Given the description of an element on the screen output the (x, y) to click on. 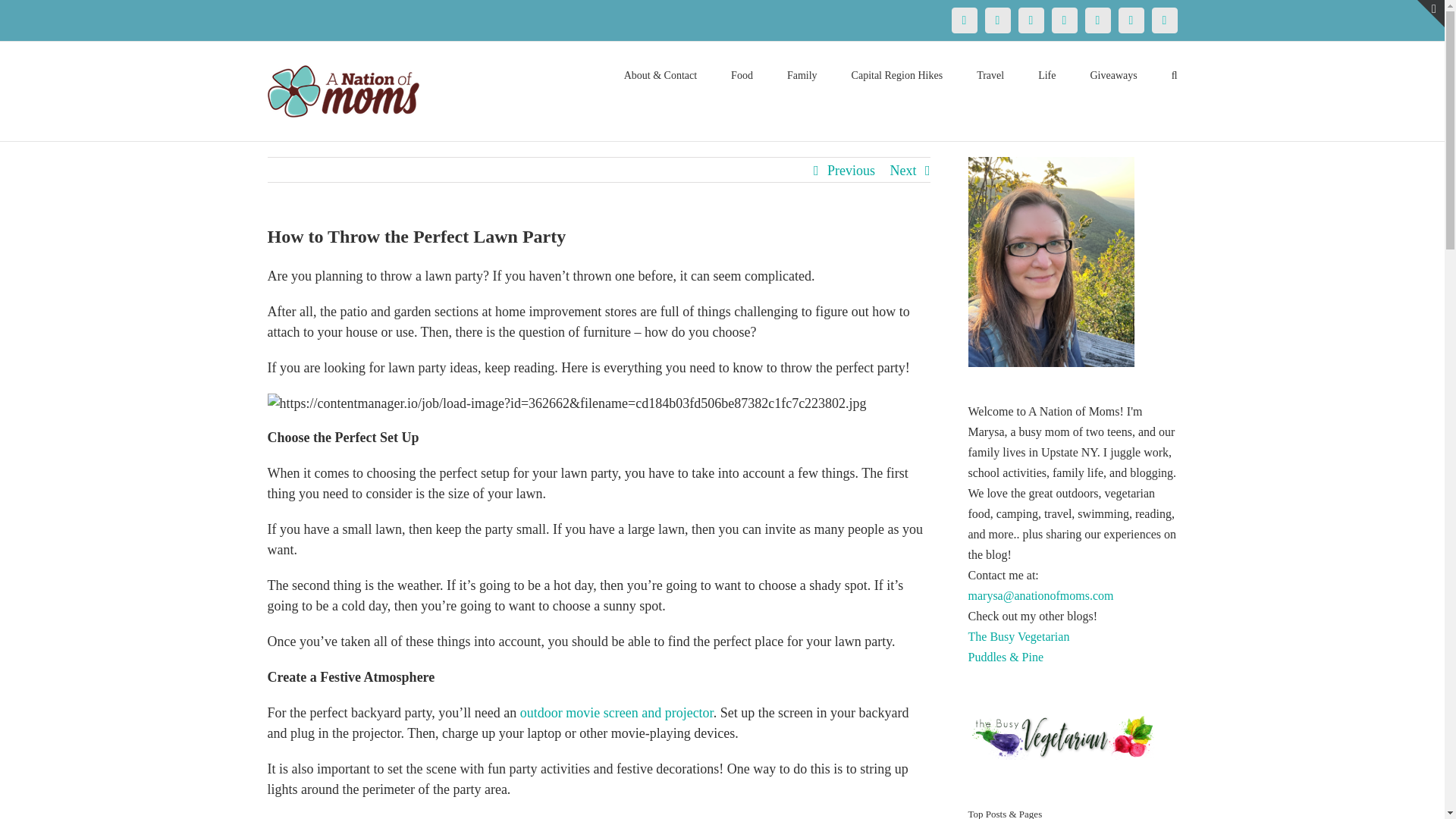
Pinterest (1030, 20)
Instagram (1064, 20)
Instagram (1064, 20)
Facebook (963, 20)
Facebook (963, 20)
Twitter (997, 20)
Twitter (997, 20)
Email (1163, 20)
Email (1163, 20)
Pinterest (1030, 20)
